Given the description of an element on the screen output the (x, y) to click on. 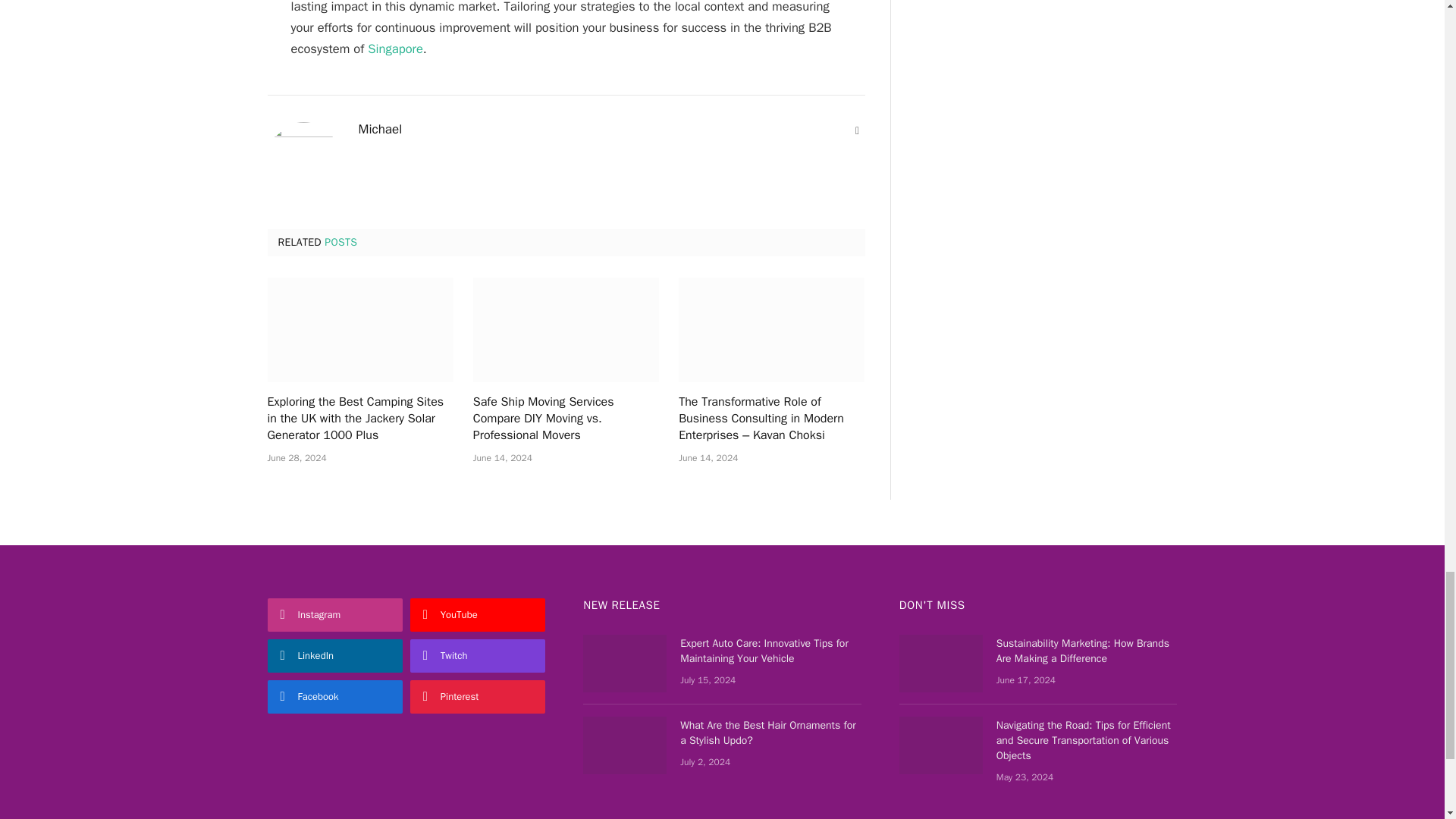
Michael (379, 128)
Website (856, 130)
Website (856, 130)
Singapore (395, 48)
Posts by Michael (379, 128)
